Given the description of an element on the screen output the (x, y) to click on. 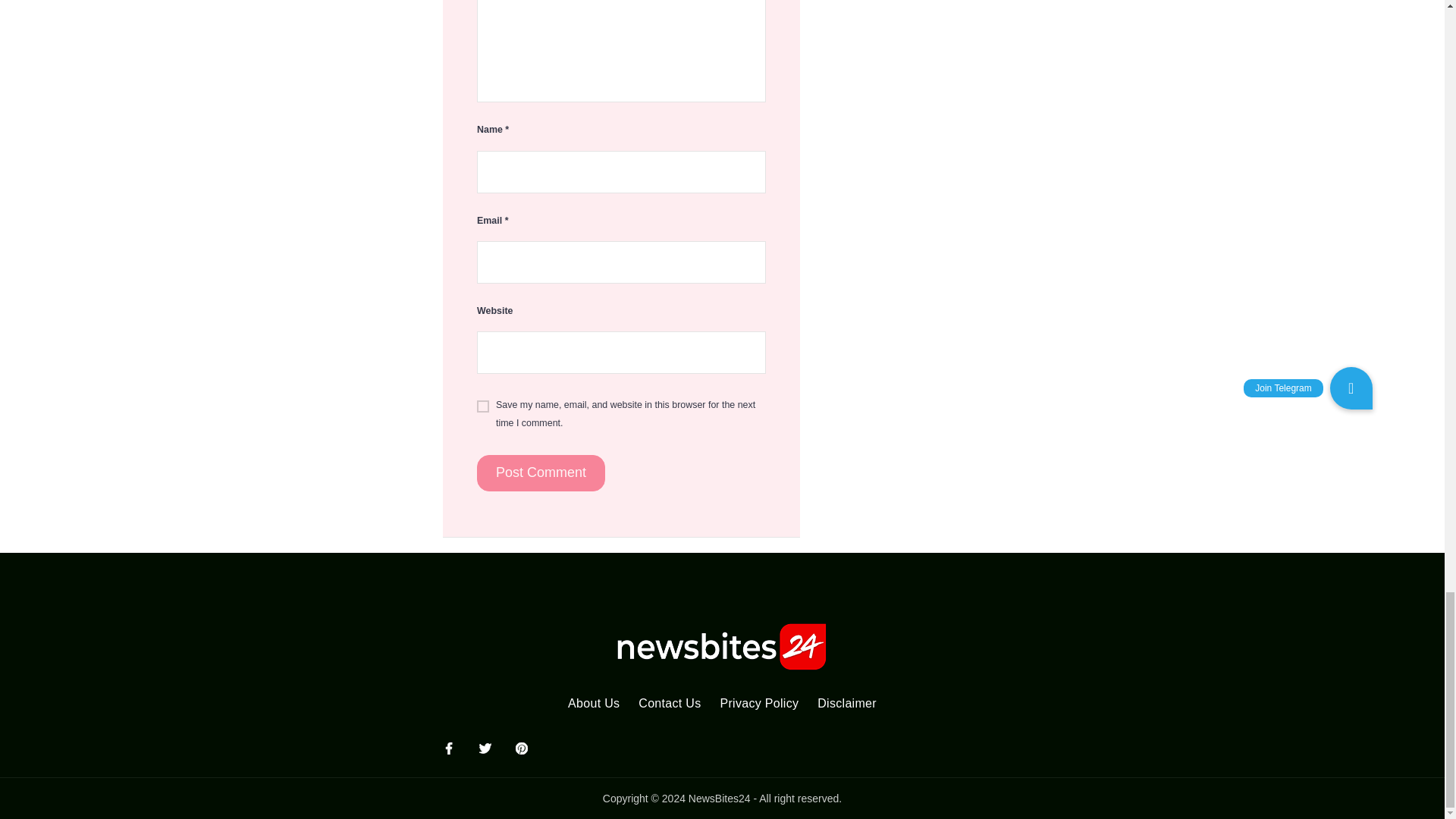
Post Comment (541, 473)
